Given the description of an element on the screen output the (x, y) to click on. 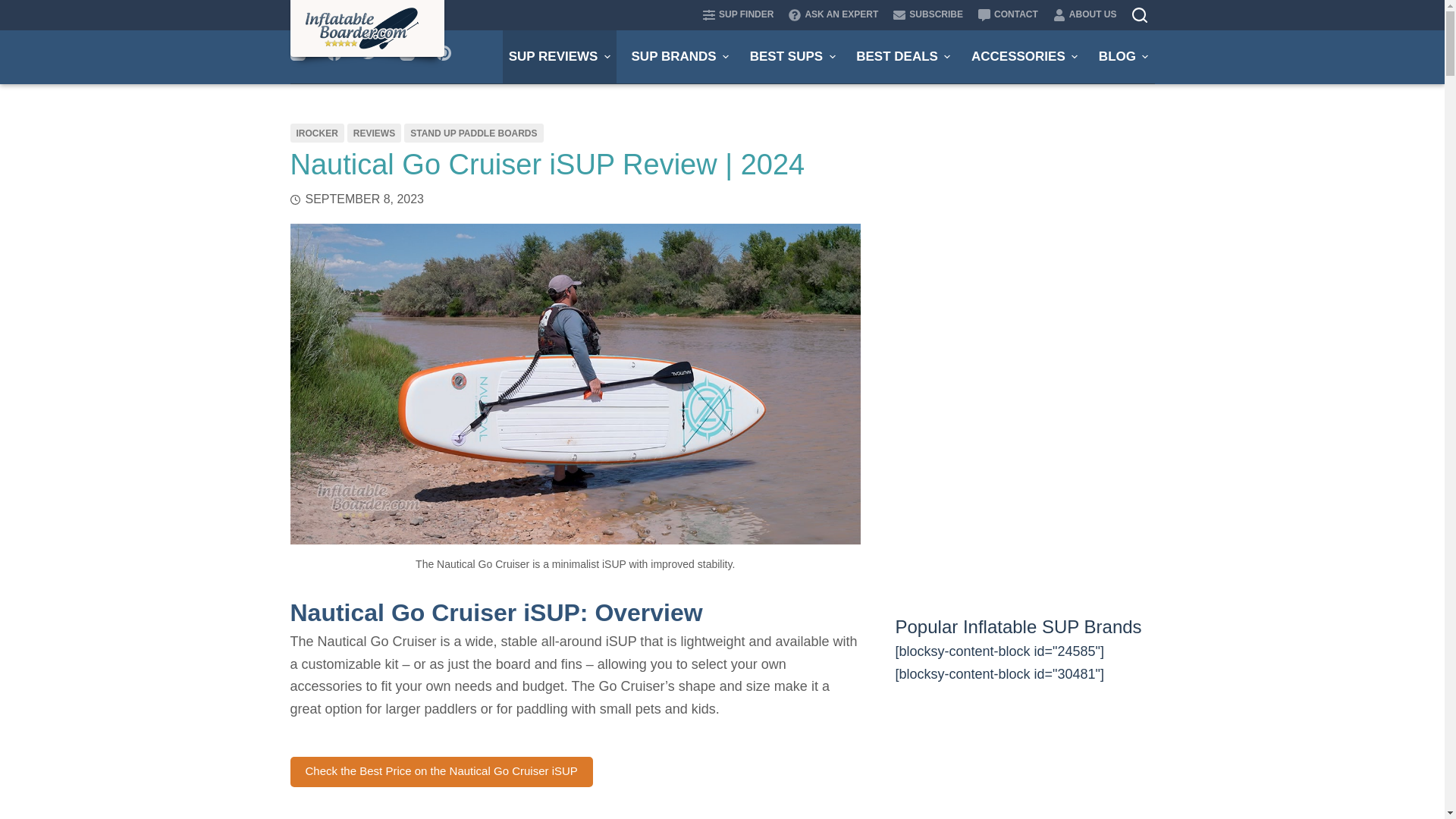
Skip to content (15, 7)
SUP REVIEWS (558, 56)
CONTACT (1008, 15)
SUP FINDER (741, 15)
ASK AN EXPERT (832, 15)
SUBSCRIBE (928, 15)
ABOUT US (1080, 15)
